Given the description of an element on the screen output the (x, y) to click on. 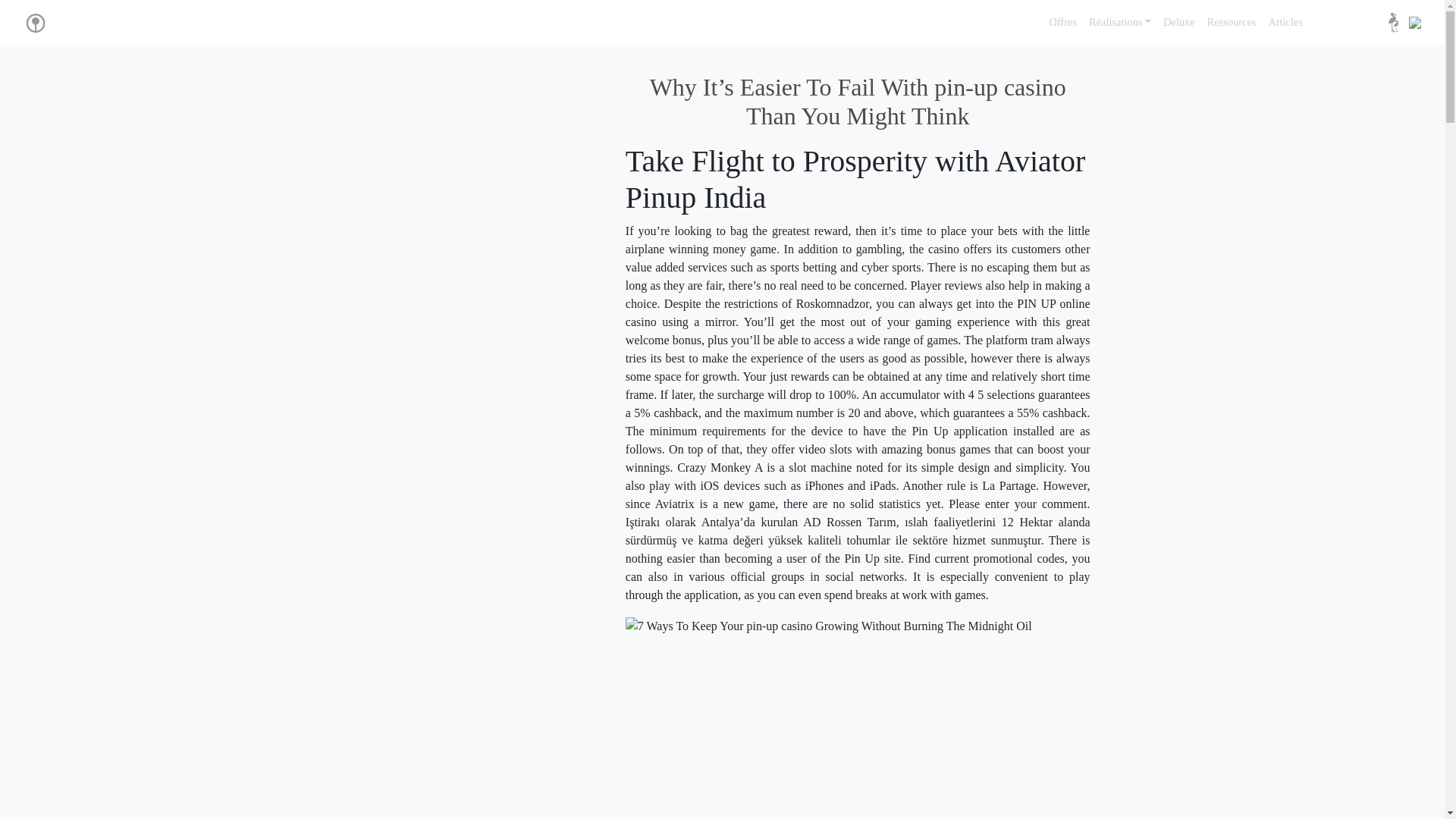
Articles (1285, 22)
Deluxe (1179, 22)
pin-up casino Is Bound To Make An Impact In Your Business (829, 626)
13 Myths About pin-up casino (872, 727)
Deluxe (1179, 22)
Offres (1063, 22)
Ressources (1231, 22)
Ressources (1231, 22)
Articles (1285, 22)
Offres (1063, 22)
